Given the description of an element on the screen output the (x, y) to click on. 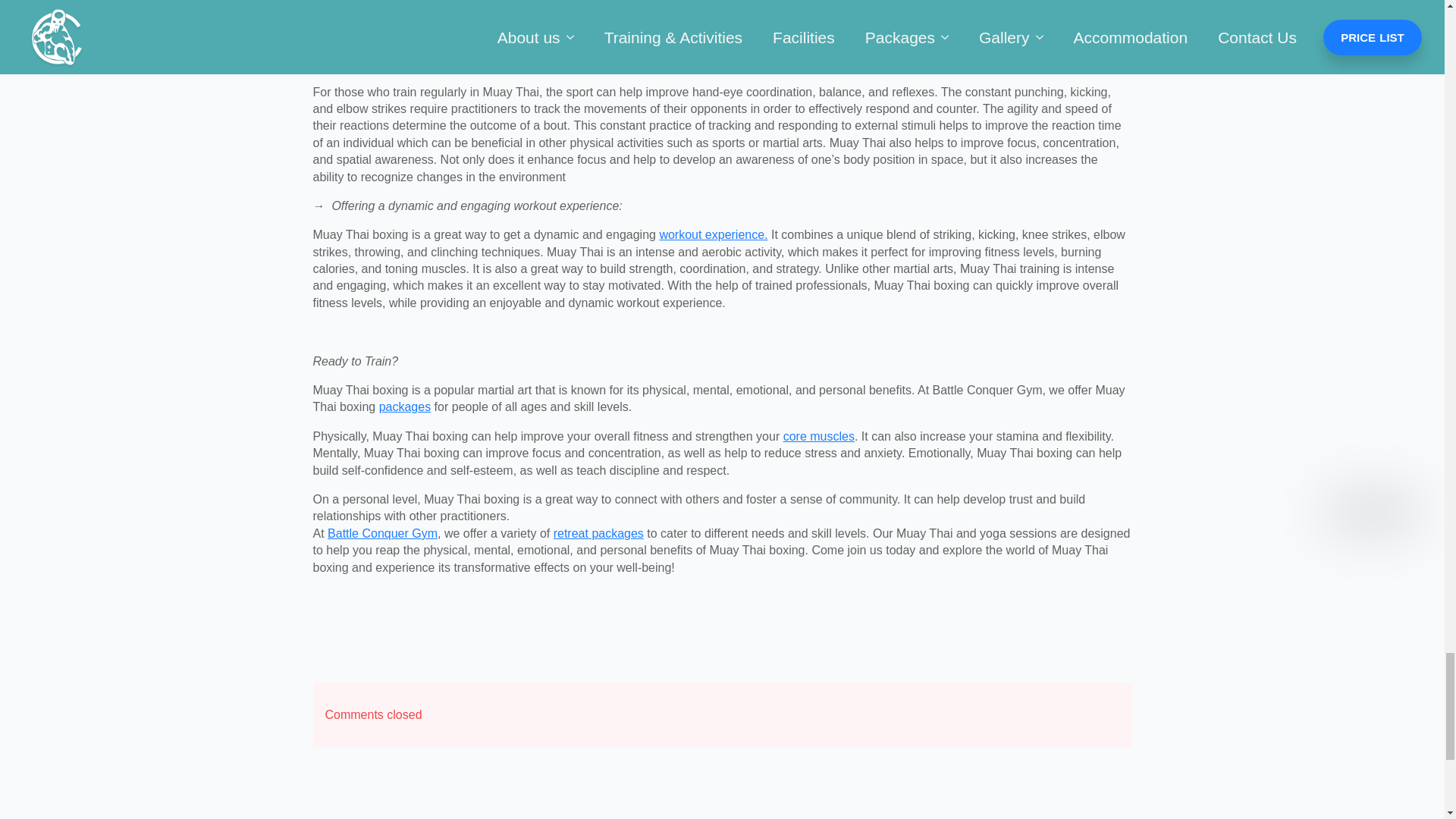
workout experience. (713, 234)
Battle Conquer Gym (382, 533)
packages (404, 406)
retreat packages (598, 533)
core muscles (818, 436)
yoga (397, 33)
Muay Thai boxing (947, 15)
